Given the description of an element on the screen output the (x, y) to click on. 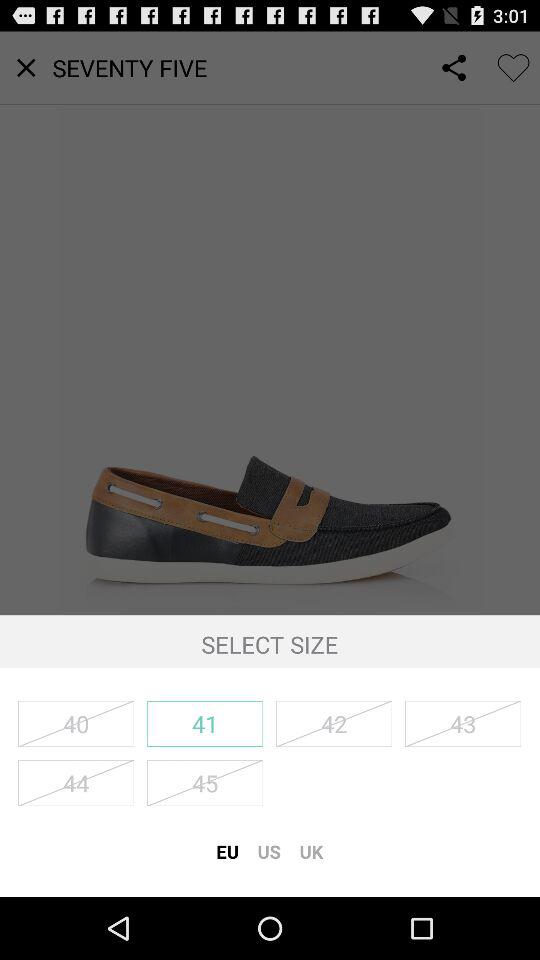
choose the icon to the right of eu icon (269, 851)
